Given the description of an element on the screen output the (x, y) to click on. 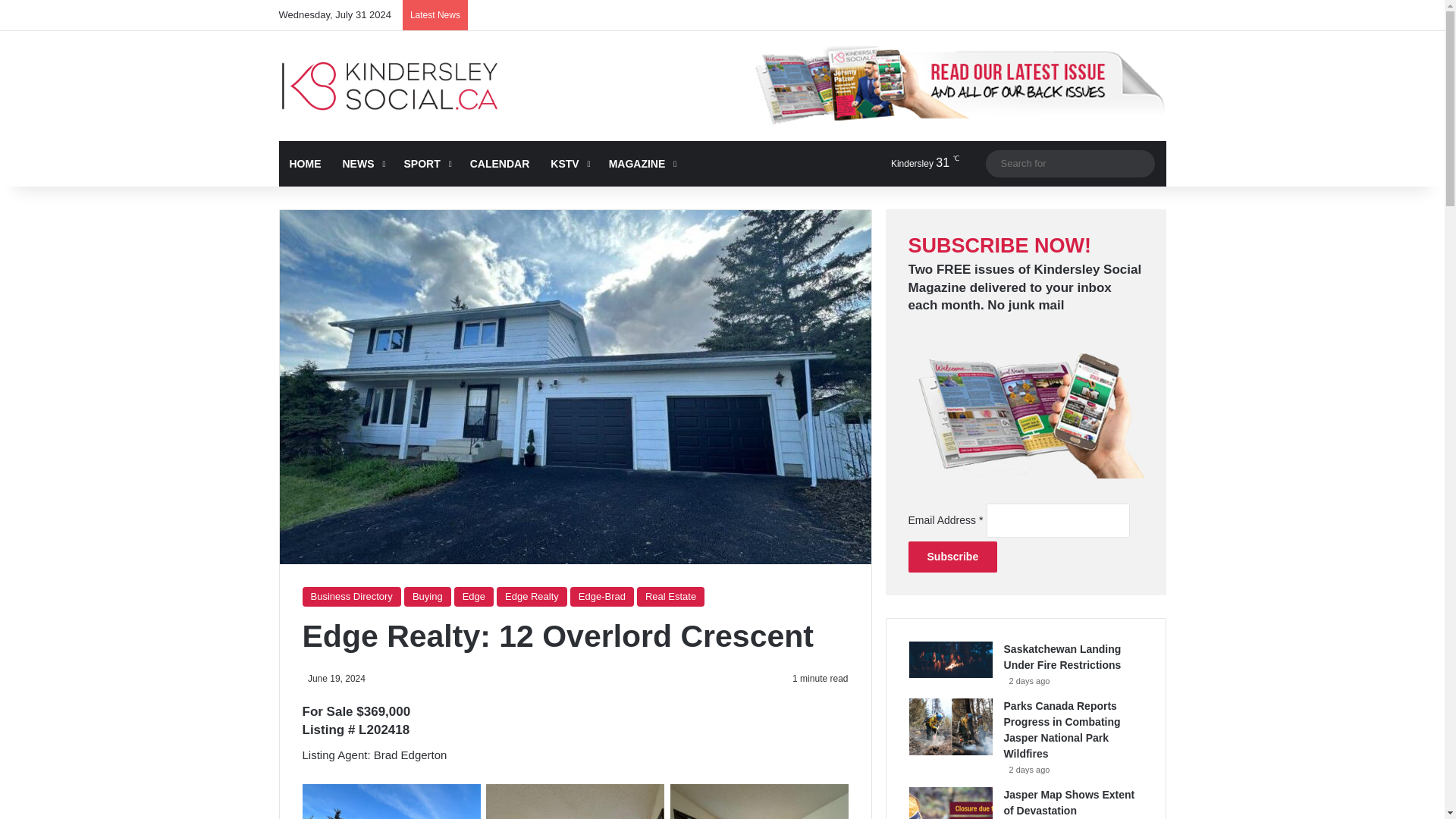
Kindersley Social - Local Update, Sports, Events and more (389, 85)
Subscribe (952, 556)
Search for (1069, 162)
NEWS (362, 163)
Scattered Clouds (911, 162)
SPORT (425, 163)
HOME (305, 163)
